Given the description of an element on the screen output the (x, y) to click on. 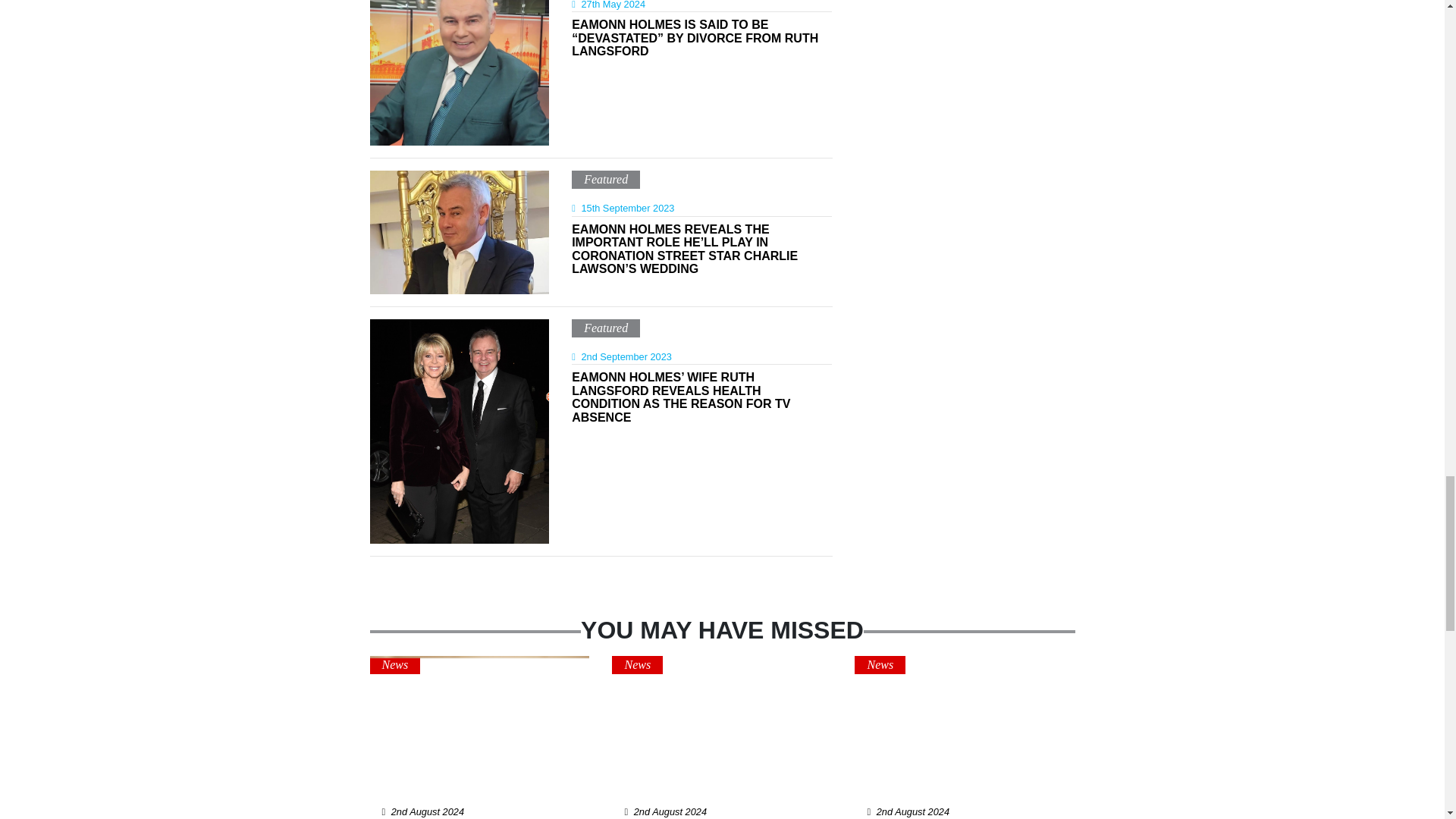
Featured (605, 327)
Featured (605, 178)
